Given the description of an element on the screen output the (x, y) to click on. 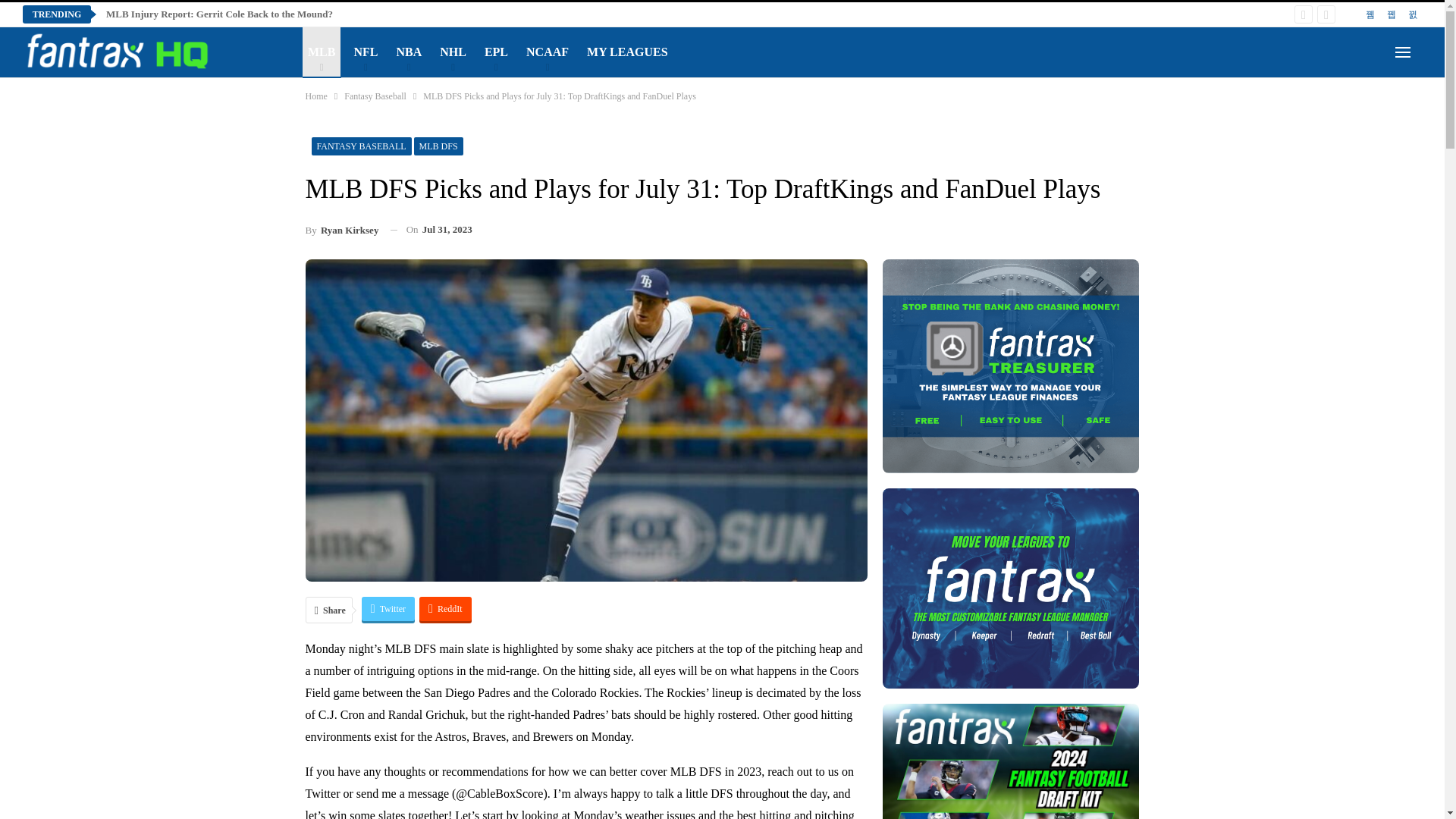
More from this author (341, 230)
